Given the description of an element on the screen output the (x, y) to click on. 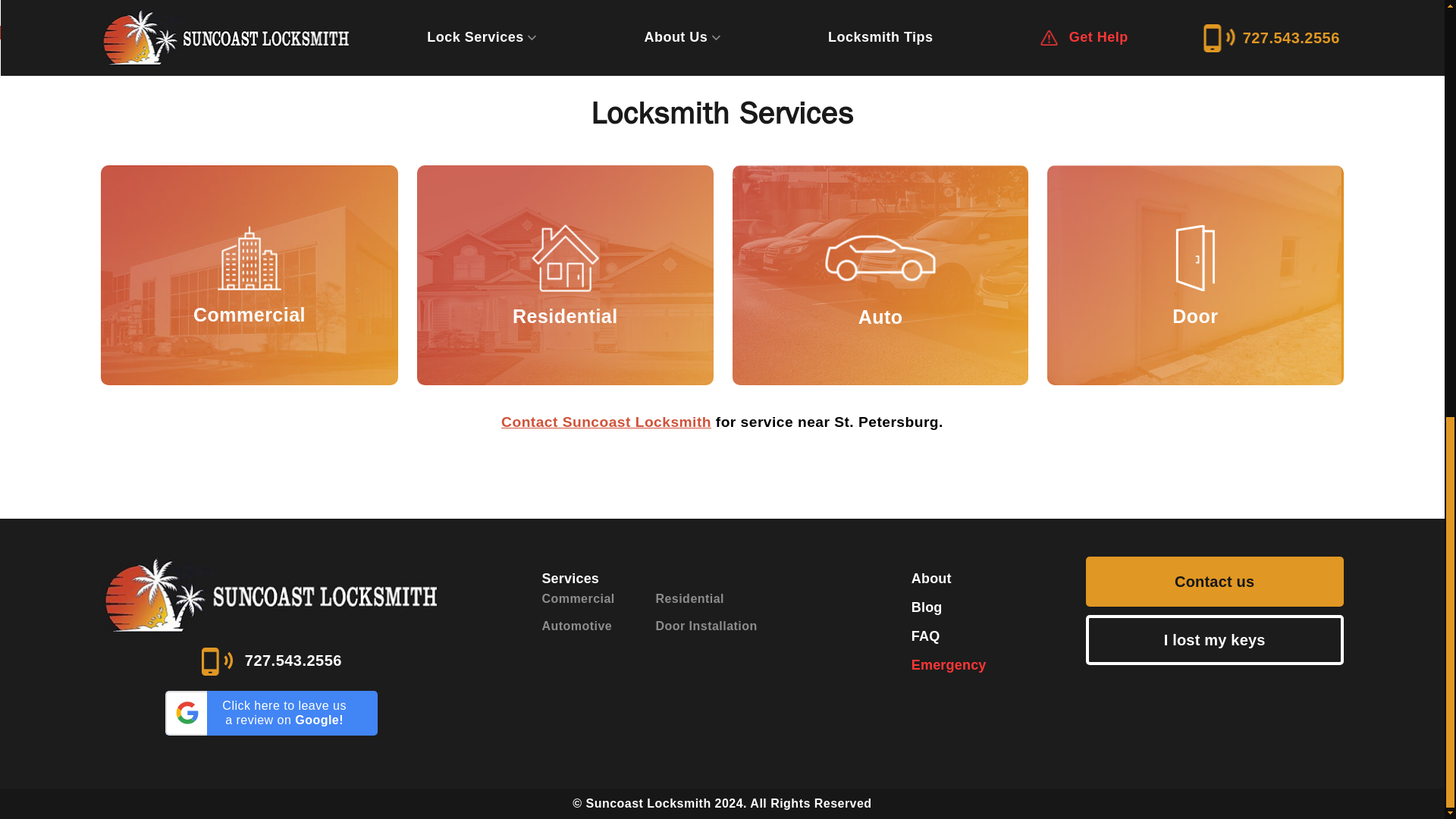
Contact Suncoast Locksmith (605, 421)
Auto (879, 274)
Commercial locksmith service (248, 276)
Residential (564, 274)
Door (1194, 274)
Commercial (248, 274)
Get commercial locksmith service (248, 274)
Get residential locksmith service (564, 274)
